Given the description of an element on the screen output the (x, y) to click on. 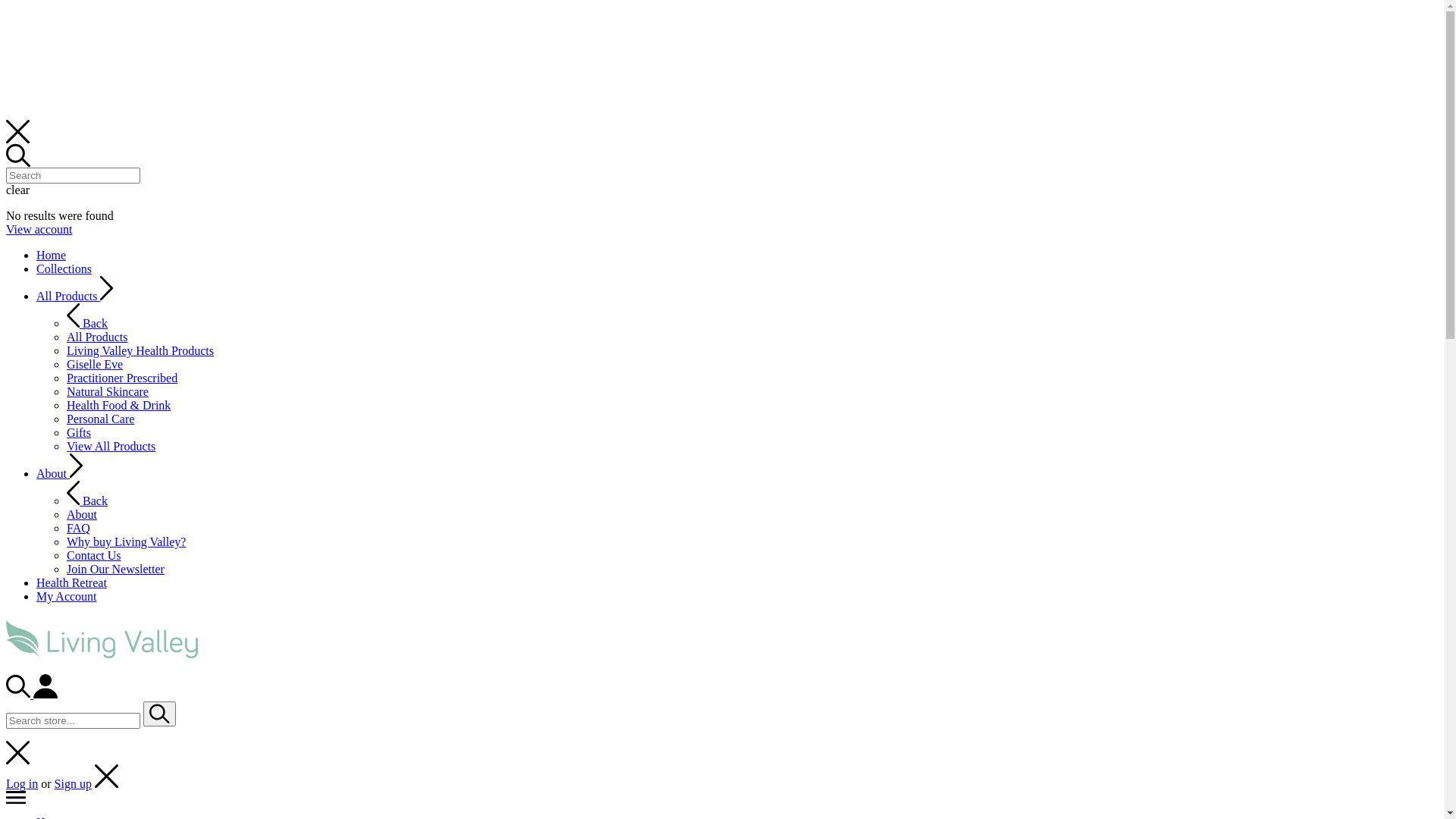
Collections Element type: text (63, 268)
Home Element type: text (50, 254)
Living Valley Health Products Element type: text (139, 350)
Back Element type: text (86, 500)
Health Retreat Element type: text (71, 582)
All Products Element type: text (96, 336)
Living Valley Health Shop Element type: hover (101, 649)
Log in Element type: text (21, 783)
My Account Element type: text (66, 595)
View All Products Element type: text (110, 445)
View account Element type: text (39, 228)
Contact Us Element type: text (93, 555)
Natural Skincare Element type: text (107, 391)
Join Our Newsletter Element type: text (115, 568)
Gifts Element type: text (78, 432)
Sign up Element type: text (72, 783)
FAQ Element type: text (78, 527)
All Products Element type: text (74, 295)
Giselle Eve Element type: text (94, 363)
Why buy Living Valley? Element type: text (125, 541)
Back Element type: text (86, 322)
Health Food & Drink Element type: text (118, 404)
About Element type: text (59, 473)
Personal Care Element type: text (100, 418)
About Element type: text (81, 514)
Practitioner Prescribed Element type: text (121, 377)
